Given the description of an element on the screen output the (x, y) to click on. 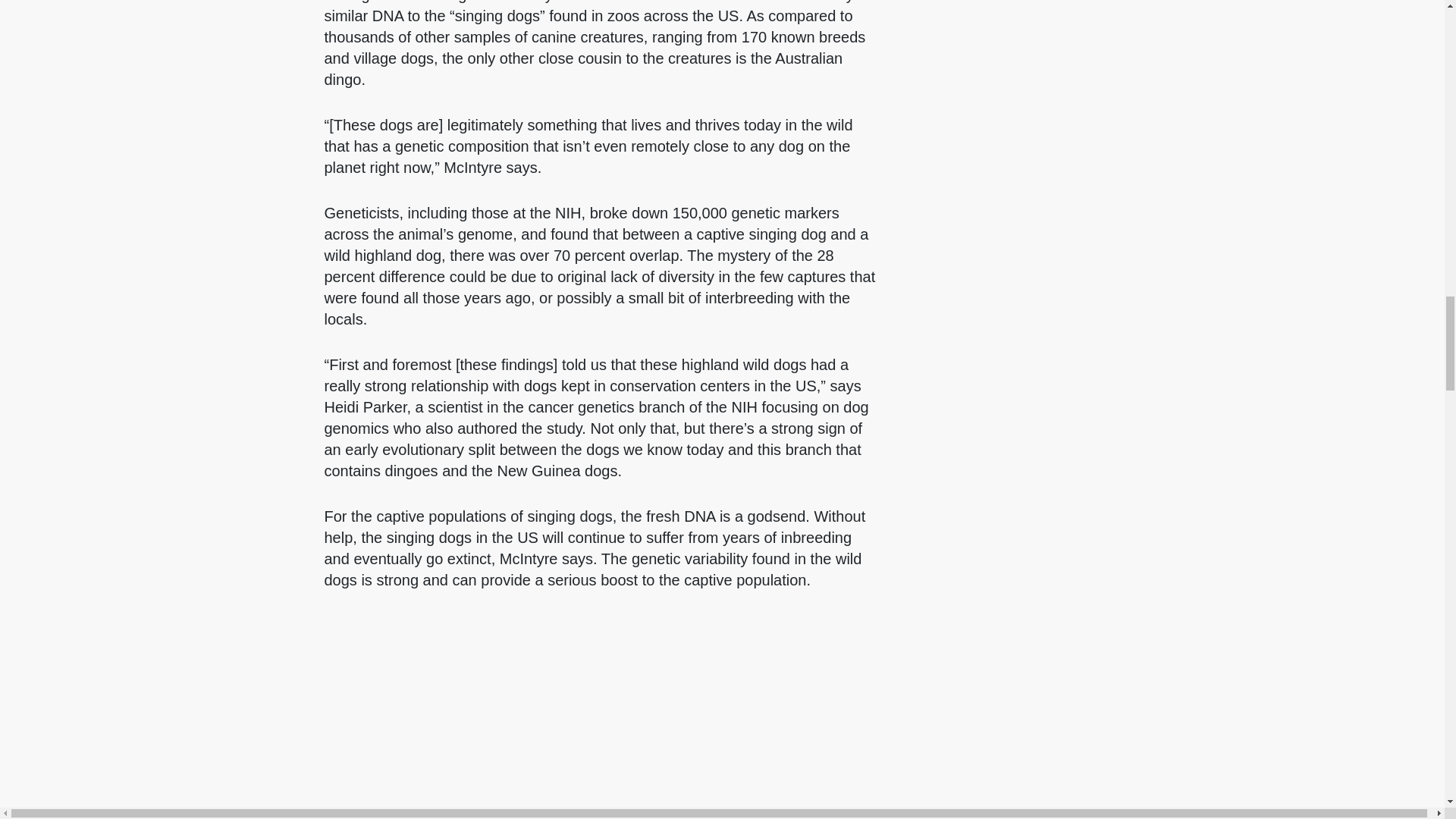
3rd party ad content (1165, 119)
3rd party ad content (600, 734)
